Given the description of an element on the screen output the (x, y) to click on. 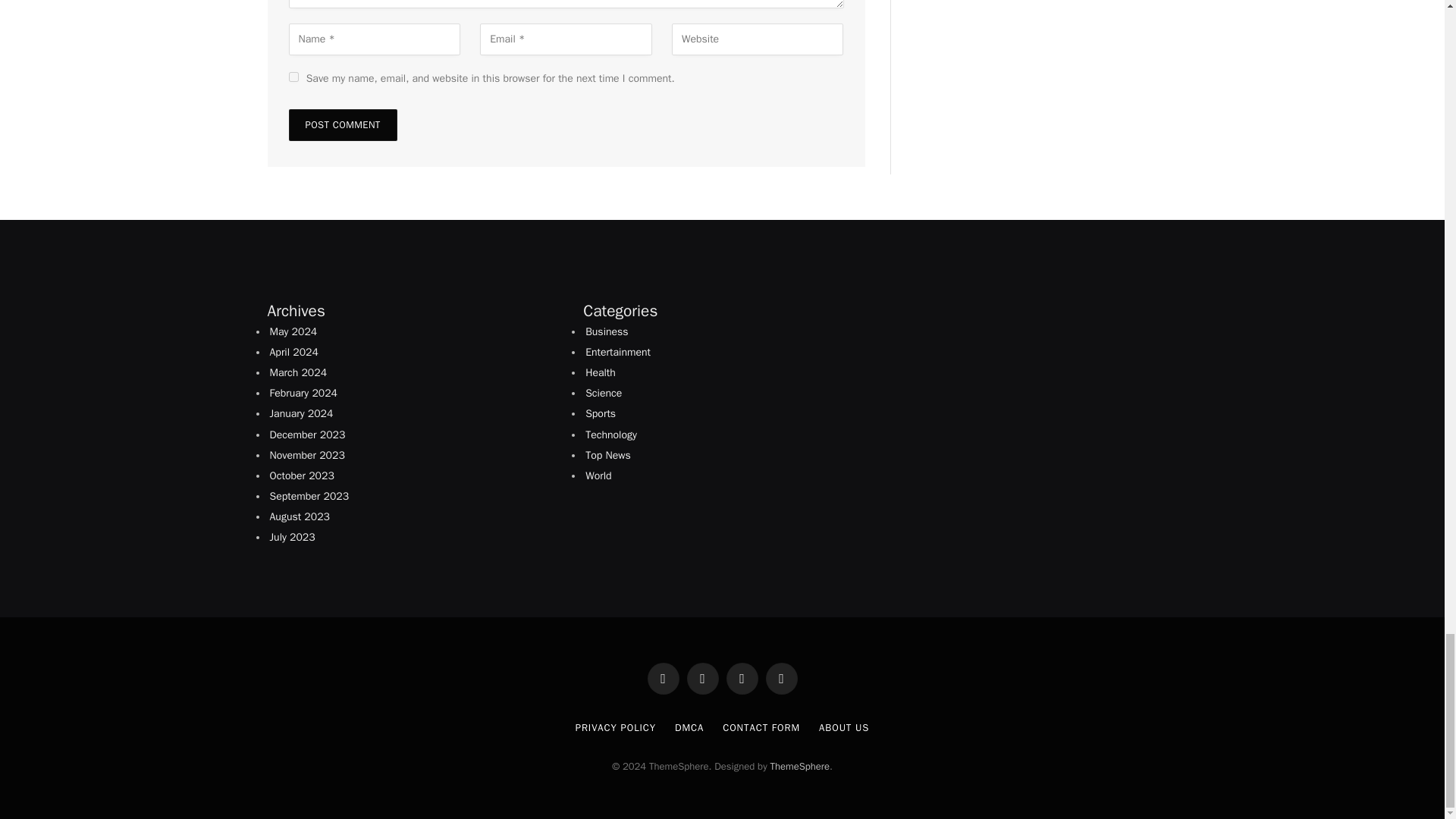
yes (293, 76)
Post Comment (342, 124)
